Given the description of an element on the screen output the (x, y) to click on. 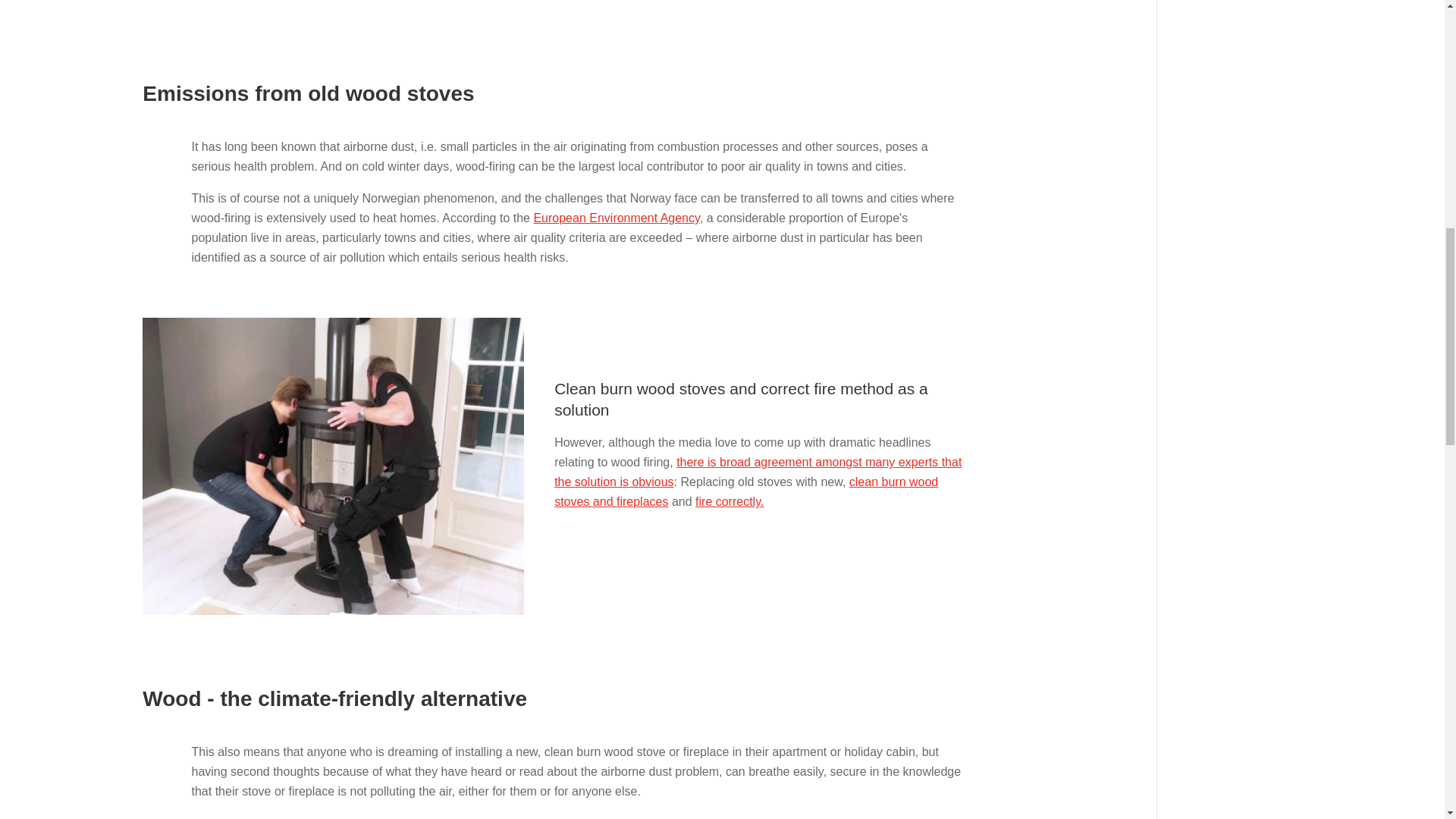
Clean burn wood stoves and fireplaces (745, 491)
fire correctly (728, 501)
European Environment Agency (615, 217)
